Given the description of an element on the screen output the (x, y) to click on. 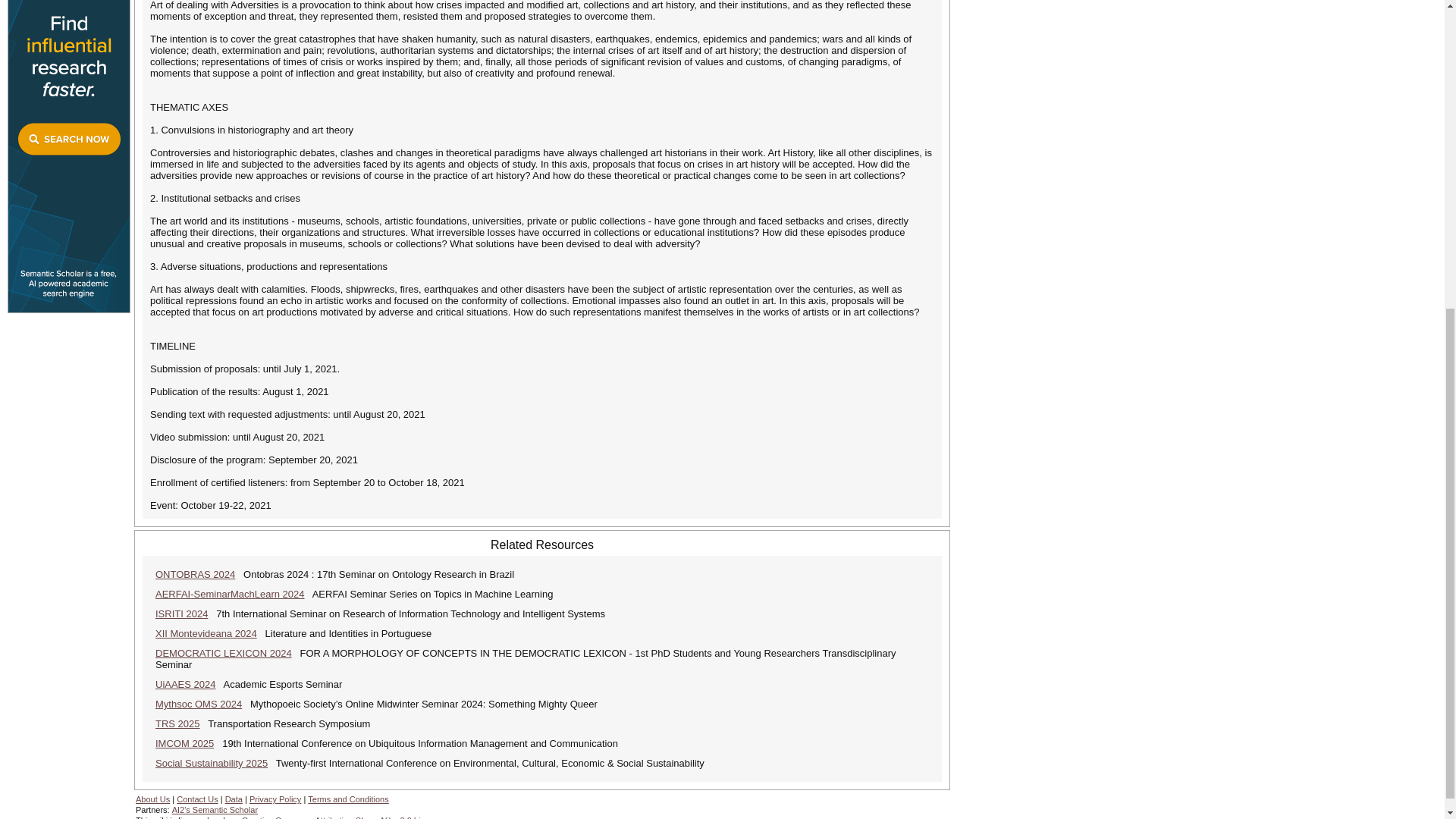
DEMOCRATIC LEXICON 2024 (223, 653)
UiAAES 2024 (185, 684)
AERFAI-SeminarMachLearn 2024 (229, 593)
ISRITI 2024 (181, 613)
ONTOBRAS 2024 (194, 573)
XII Montevideana 2024 (206, 633)
